Given the description of an element on the screen output the (x, y) to click on. 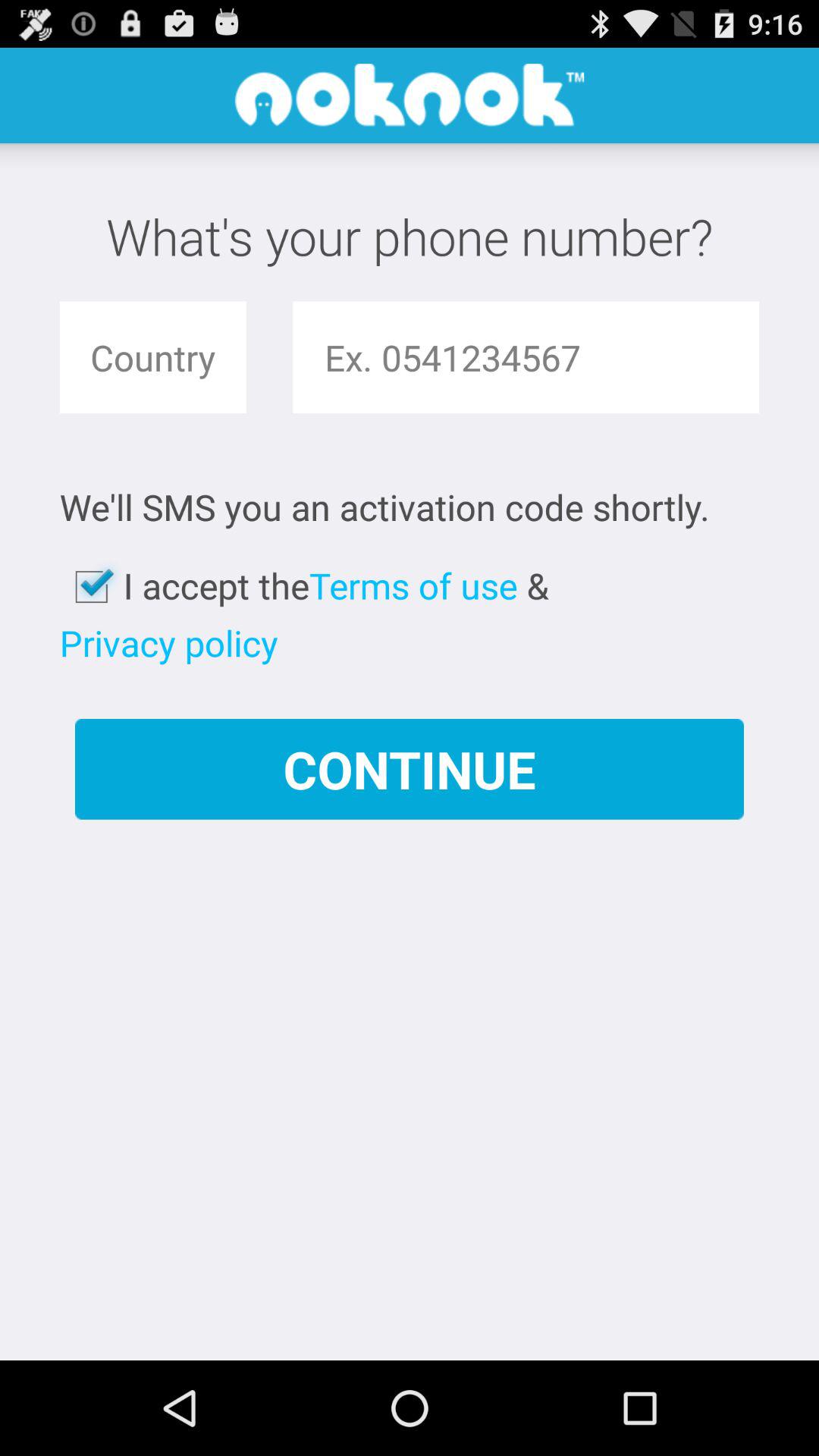
swipe to terms of use (413, 585)
